Given the description of an element on the screen output the (x, y) to click on. 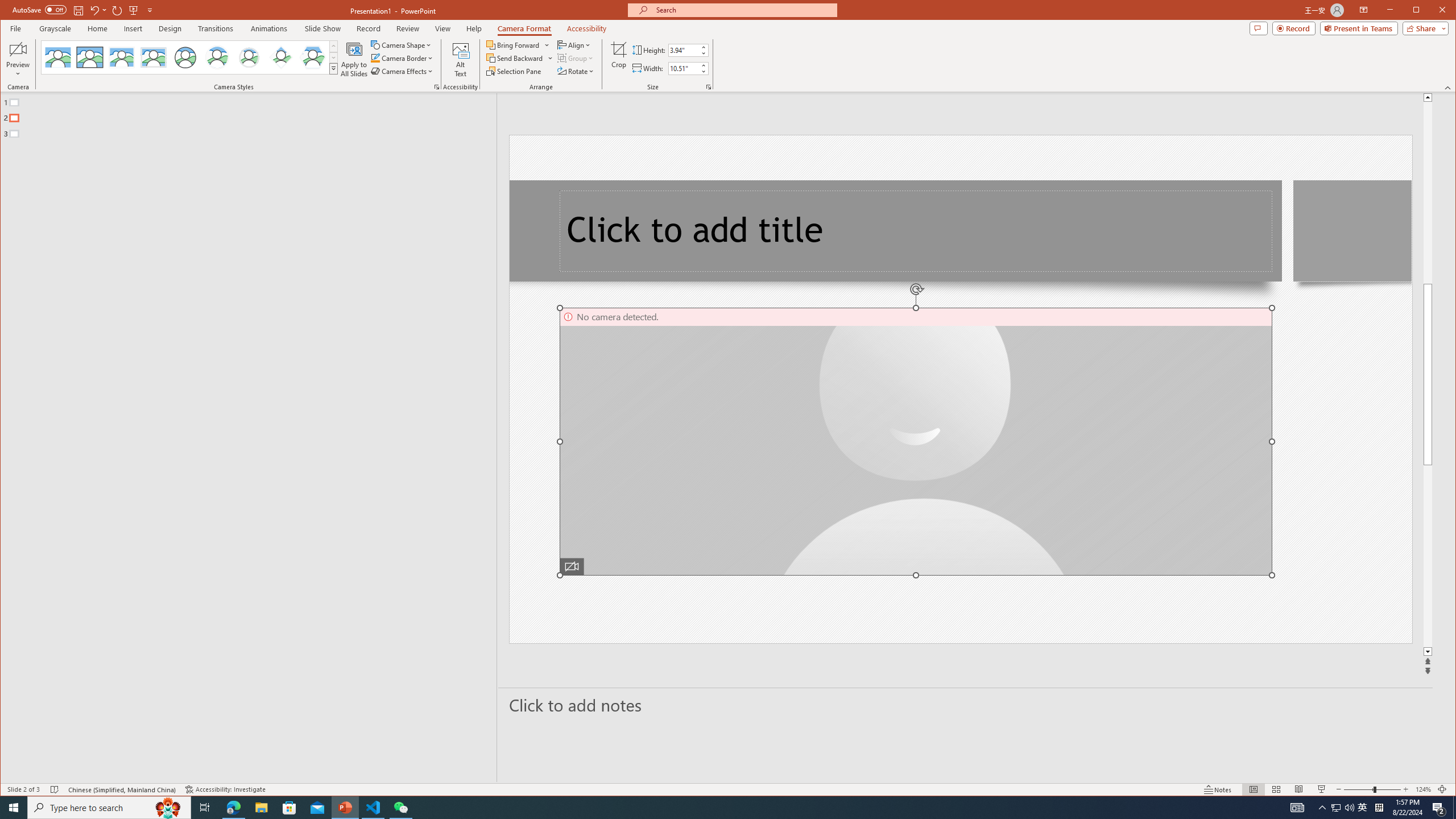
Camera Effects (402, 70)
Row Down (333, 57)
Row up (333, 46)
Minimize (1419, 11)
Line down (1427, 651)
Q2790: 100% (1349, 807)
Bring Forward (513, 44)
Close (1444, 11)
More (702, 64)
AutomationID: CameoStylesGallery (189, 57)
Less (702, 70)
User Promoted Notification Area (1342, 807)
Grayscale (55, 28)
Page down (1427, 556)
